Given the description of an element on the screen output the (x, y) to click on. 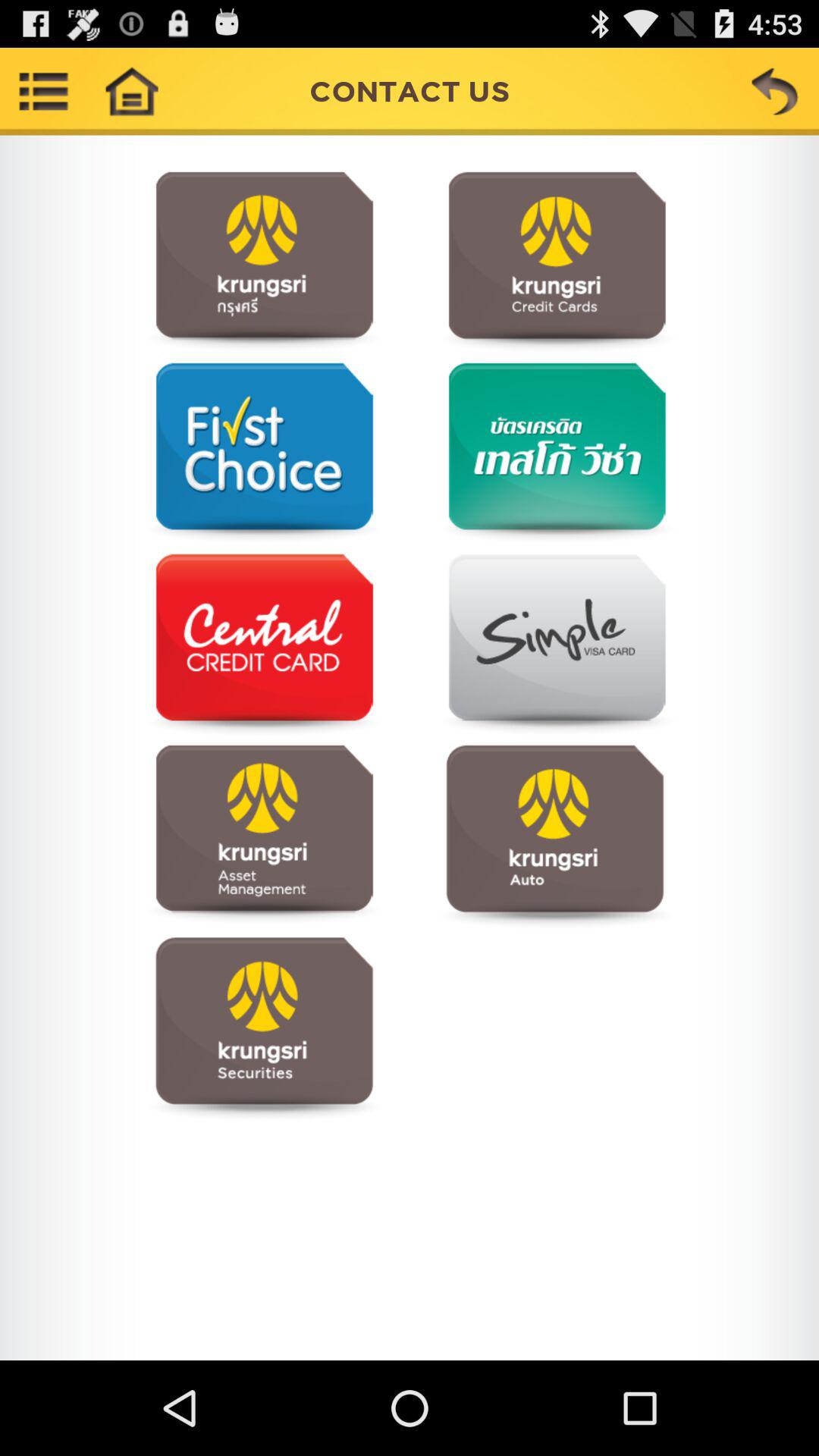
view contact information (554, 644)
